Given the description of an element on the screen output the (x, y) to click on. 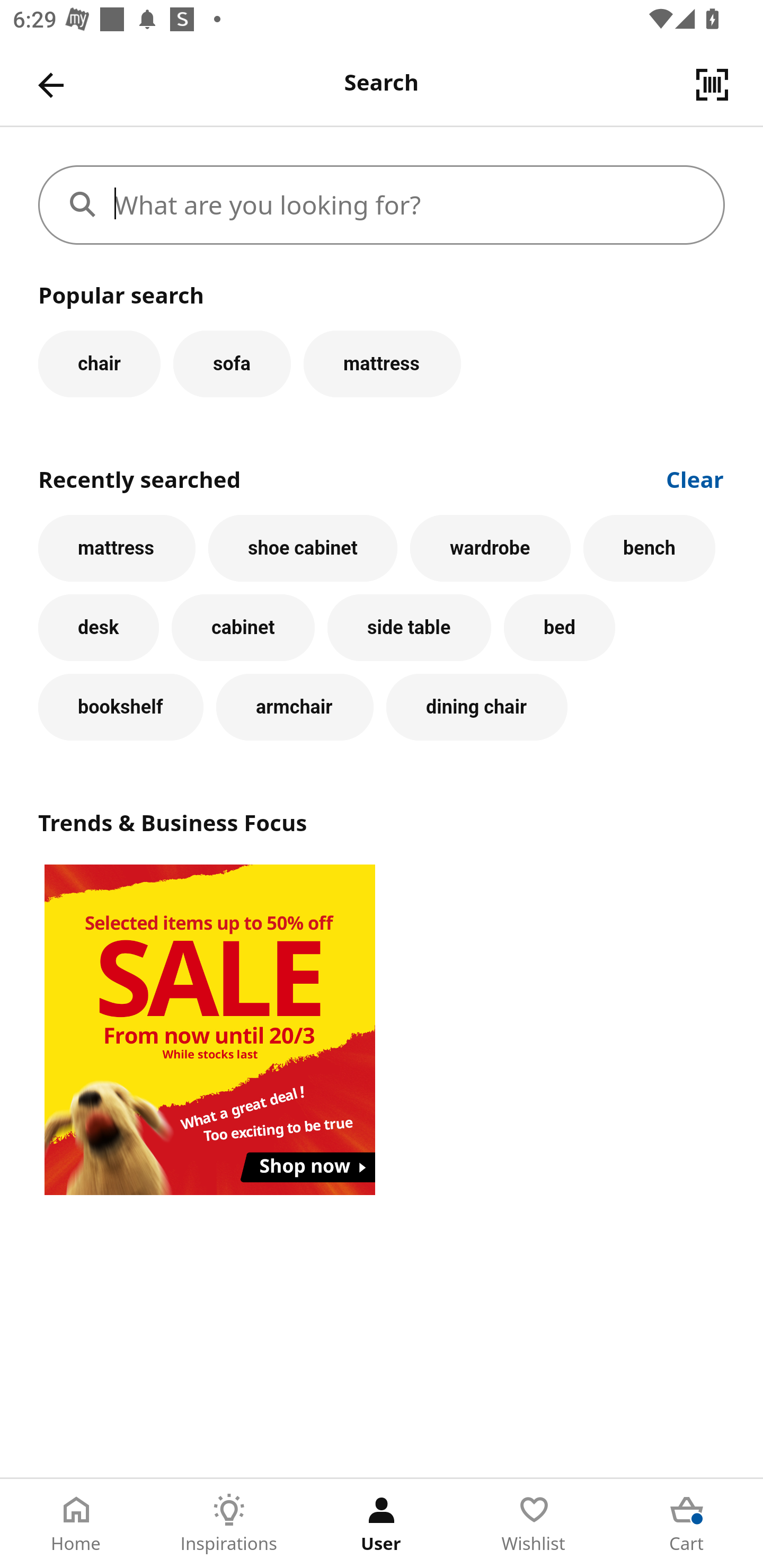
chair (99, 363)
sofa (231, 363)
mattress (381, 363)
Clear (695, 477)
mattress (116, 547)
shoe cabinet (302, 547)
wardrobe (490, 547)
bench (649, 547)
desk (98, 627)
cabinet (242, 627)
side table (409, 627)
bed (558, 627)
bookshelf (120, 707)
armchair (294, 707)
dining chair (476, 707)
Home
Tab 1 of 5 (76, 1522)
Inspirations
Tab 2 of 5 (228, 1522)
User
Tab 3 of 5 (381, 1522)
Wishlist
Tab 4 of 5 (533, 1522)
Cart
Tab 5 of 5 (686, 1522)
